Given the description of an element on the screen output the (x, y) to click on. 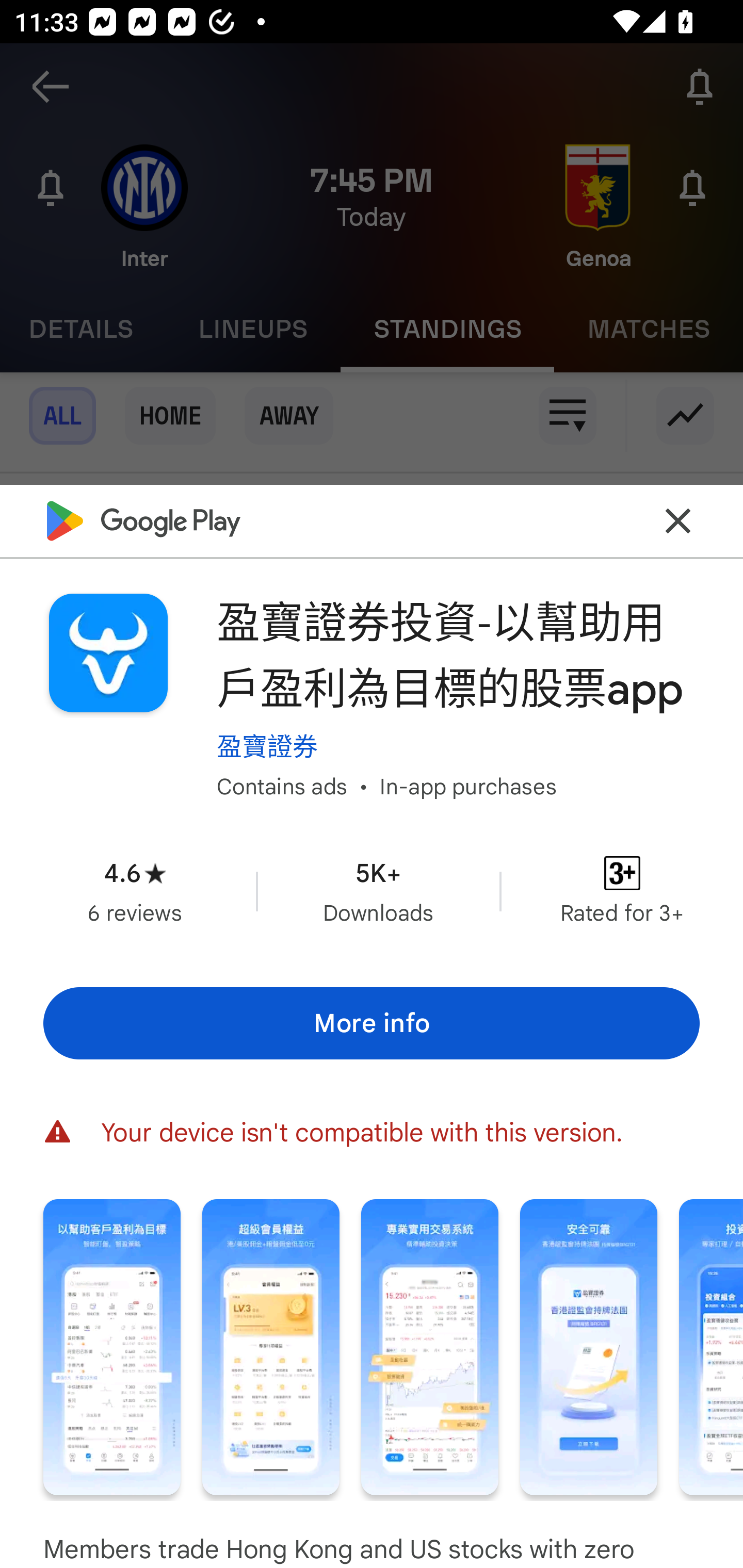
Close (677, 520)
盈寶證券 (267, 745)
More info (371, 1023)
Screenshot "1" of "8" (111, 1347)
Screenshot "2" of "8" (270, 1347)
Screenshot "3" of "8" (429, 1347)
Screenshot "4" of "8" (588, 1347)
